Given the description of an element on the screen output the (x, y) to click on. 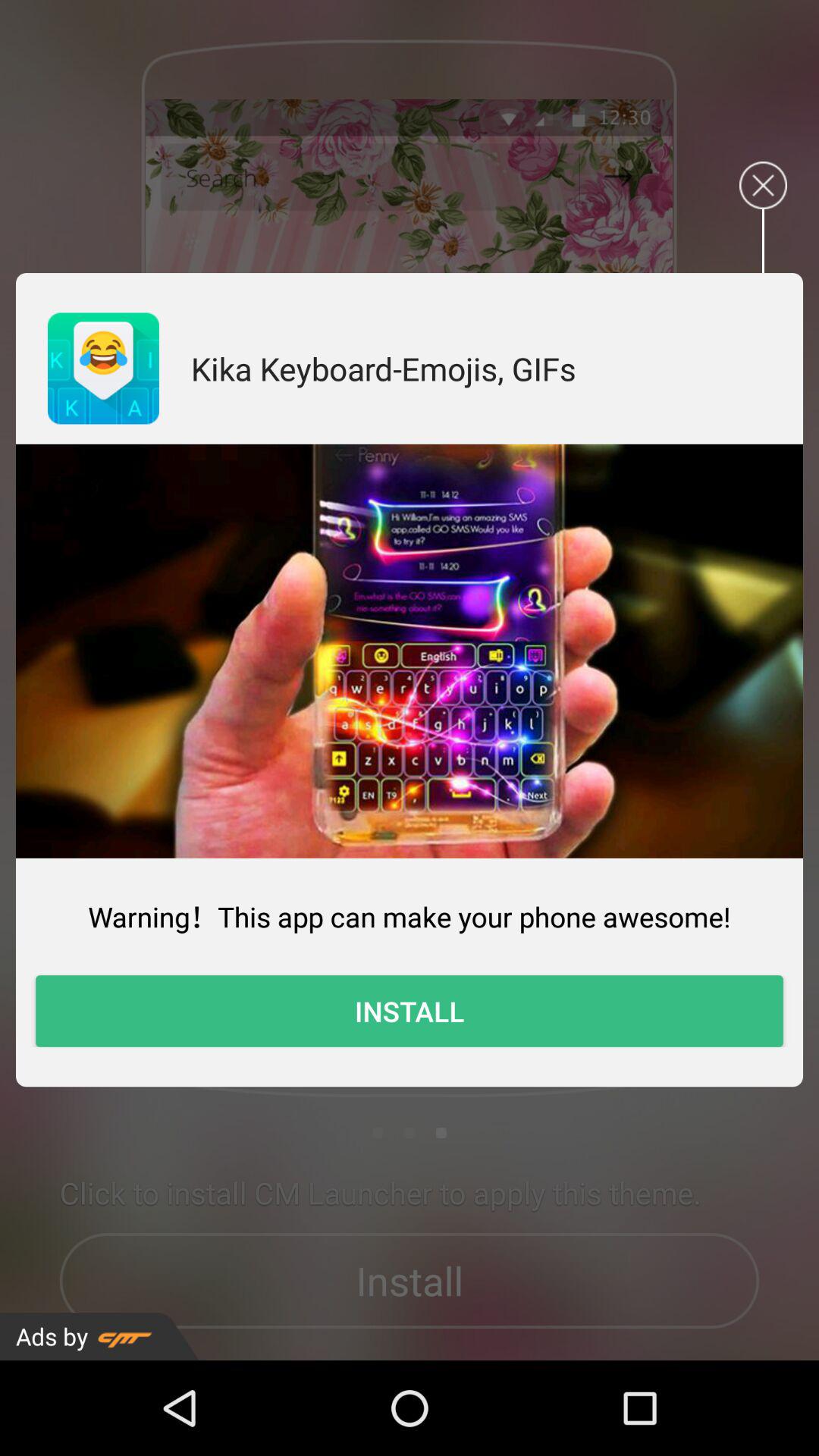
tap the app next to kika keyboard emojis app (103, 368)
